Given the description of an element on the screen output the (x, y) to click on. 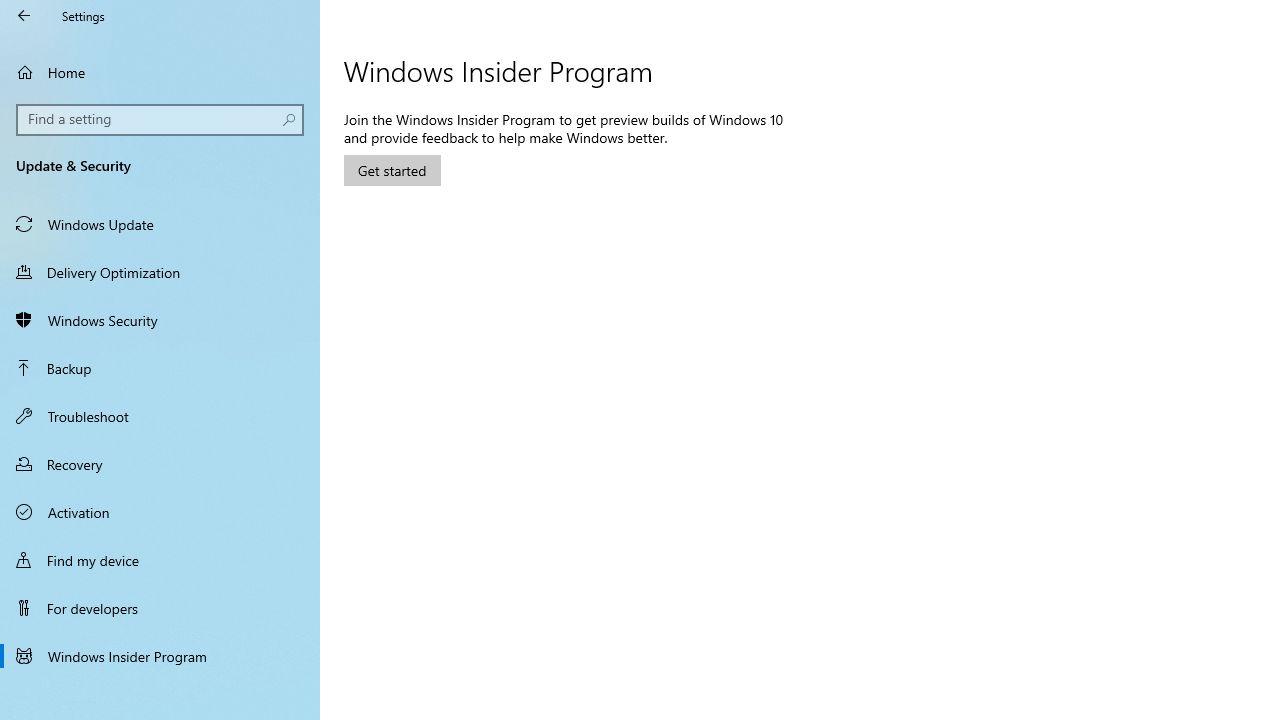
For developers (160, 607)
Find my device (160, 559)
Windows Security (160, 319)
Get started (392, 169)
Delivery Optimization (160, 271)
Windows Insider Program (160, 655)
Troubleshoot (160, 415)
Activation (160, 511)
Backup (160, 367)
Windows Update (160, 223)
Recovery (160, 463)
